Given the description of an element on the screen output the (x, y) to click on. 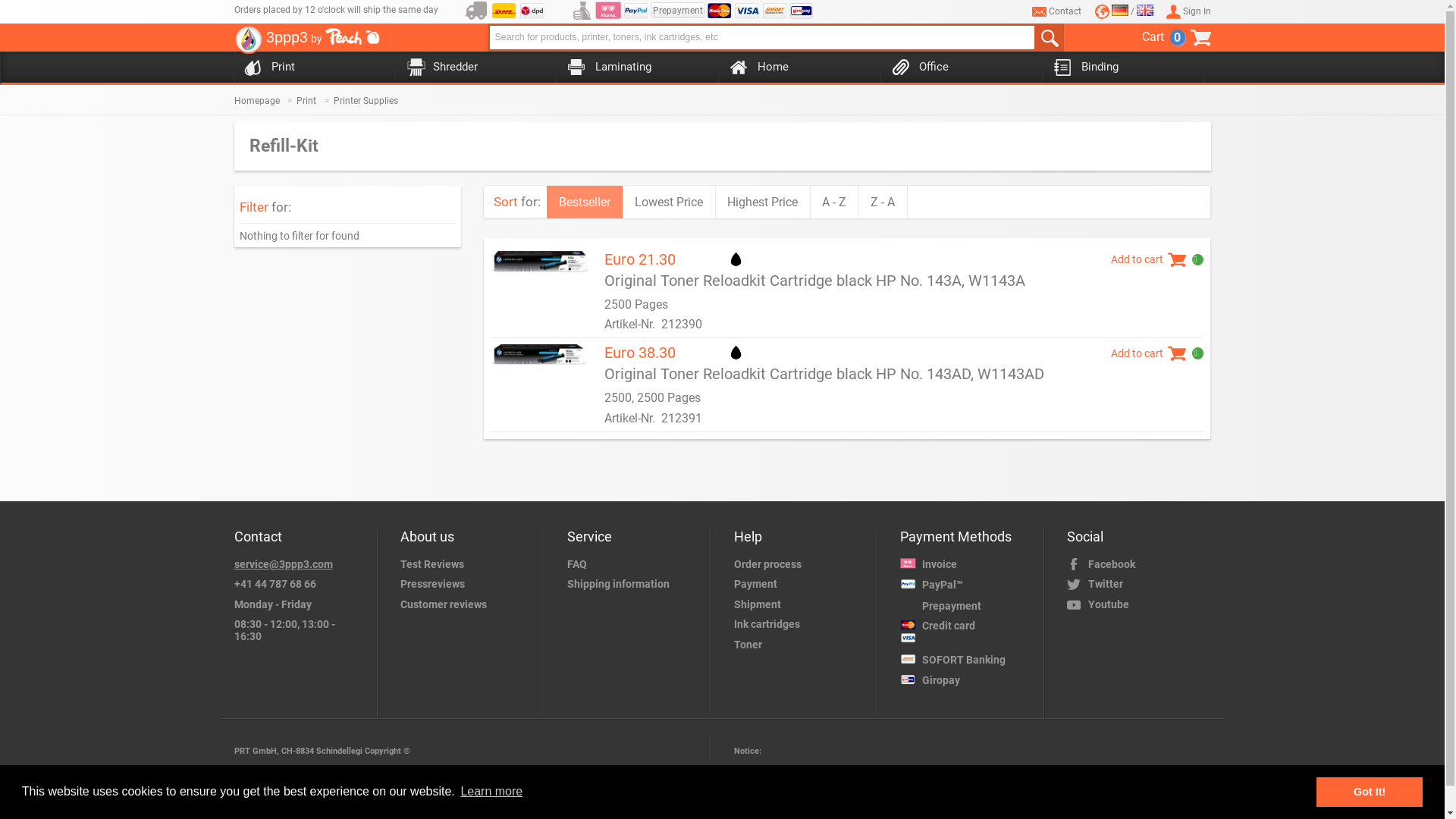
Homepage Element type: text (264, 100)
Order process Element type: text (798, 564)
Payment Methods Element type: hover (581, 9)
Binding Element type: text (1119, 67)
Invoice Element type: hover (608, 9)
service@3ppp3.com Element type: text (297, 564)
FAQ Element type: text (631, 564)
SOFORT Banking Element type: hover (774, 9)
Credit card Element type: hover (746, 9)
Customer reviews Element type: text (464, 604)
Prepayment Element type: text (964, 605)
Youtube Element type: text (1138, 604)
Credit card Element type: text (964, 632)
Printer Supplies Element type: text (372, 100)
Invoice Element type: text (964, 564)
+41 44 787 68 66 Element type: text (297, 583)
Credit card Element type: hover (719, 9)
Giropay Element type: hover (800, 9)
Got It! Element type: text (1369, 791)
Facebook Element type: text (1138, 564)
Print Element type: text (310, 67)
Giropay Element type: text (964, 680)
Test Reviews Element type: text (464, 564)
3ppp3 by Element type: text (306, 42)
Twitter Element type: text (1138, 583)
Laminating Element type: text (633, 67)
Shipping information Element type: text (631, 583)
Shipment Element type: text (798, 604)
Office Element type: text (957, 67)
Shredder Element type: text (471, 67)
Payment Element type: text (798, 583)
Ink cartridges Element type: text (798, 624)
Shipping Partner Element type: hover (475, 9)
Pressreviews Element type: text (464, 583)
Print Element type: text (314, 100)
Home Element type: text (796, 67)
SOFORT Banking Element type: text (964, 659)
Toner Element type: text (798, 644)
Learn more Element type: text (491, 791)
